Given the description of an element on the screen output the (x, y) to click on. 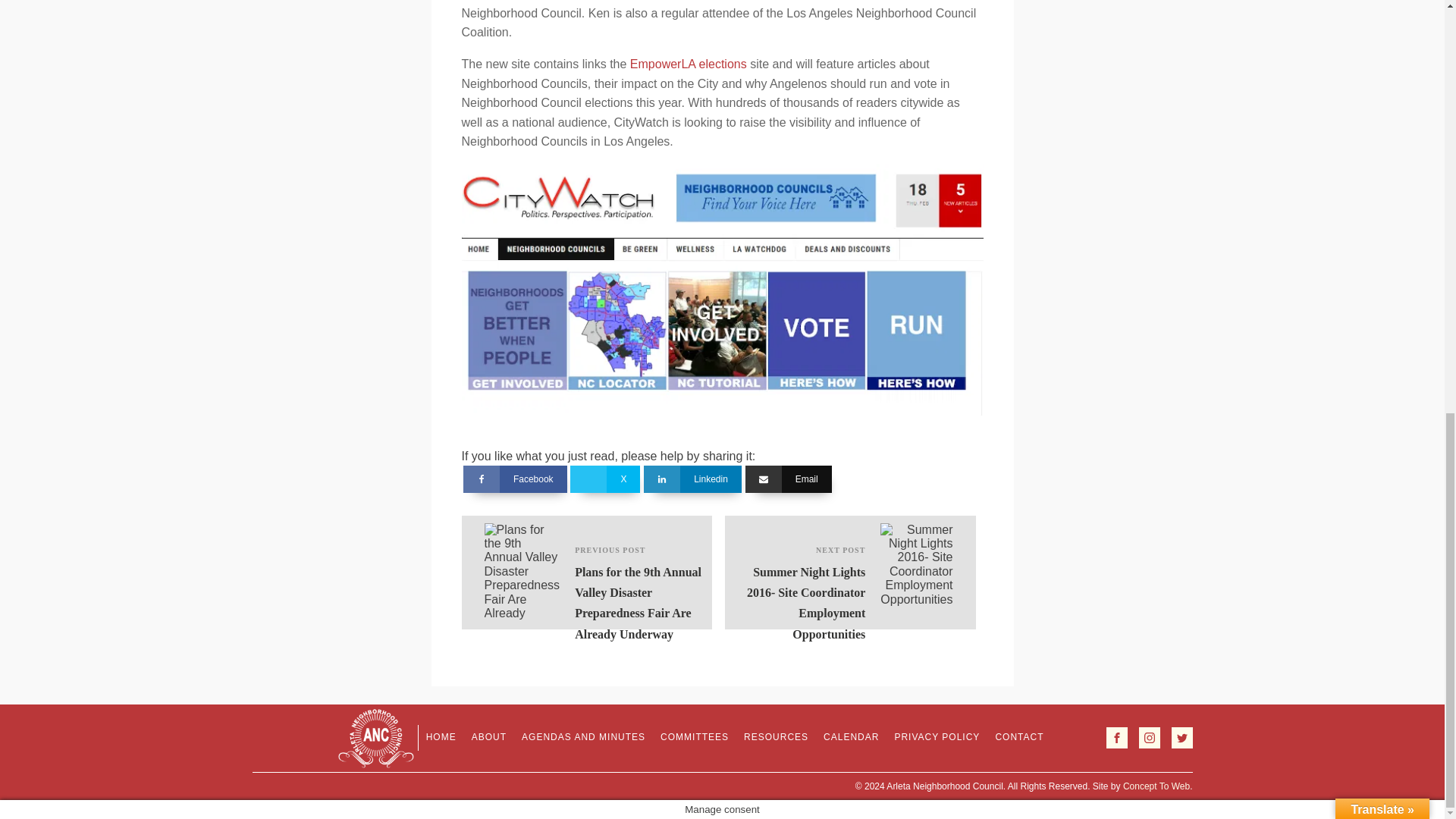
EmpowerLA elections (688, 63)
COMMITTEES (694, 737)
HOME (441, 737)
Email (788, 479)
Facebook (515, 479)
AGENDAS AND MINUTES (582, 737)
ABOUT (488, 737)
X (605, 479)
Linkedin (692, 479)
